Given the description of an element on the screen output the (x, y) to click on. 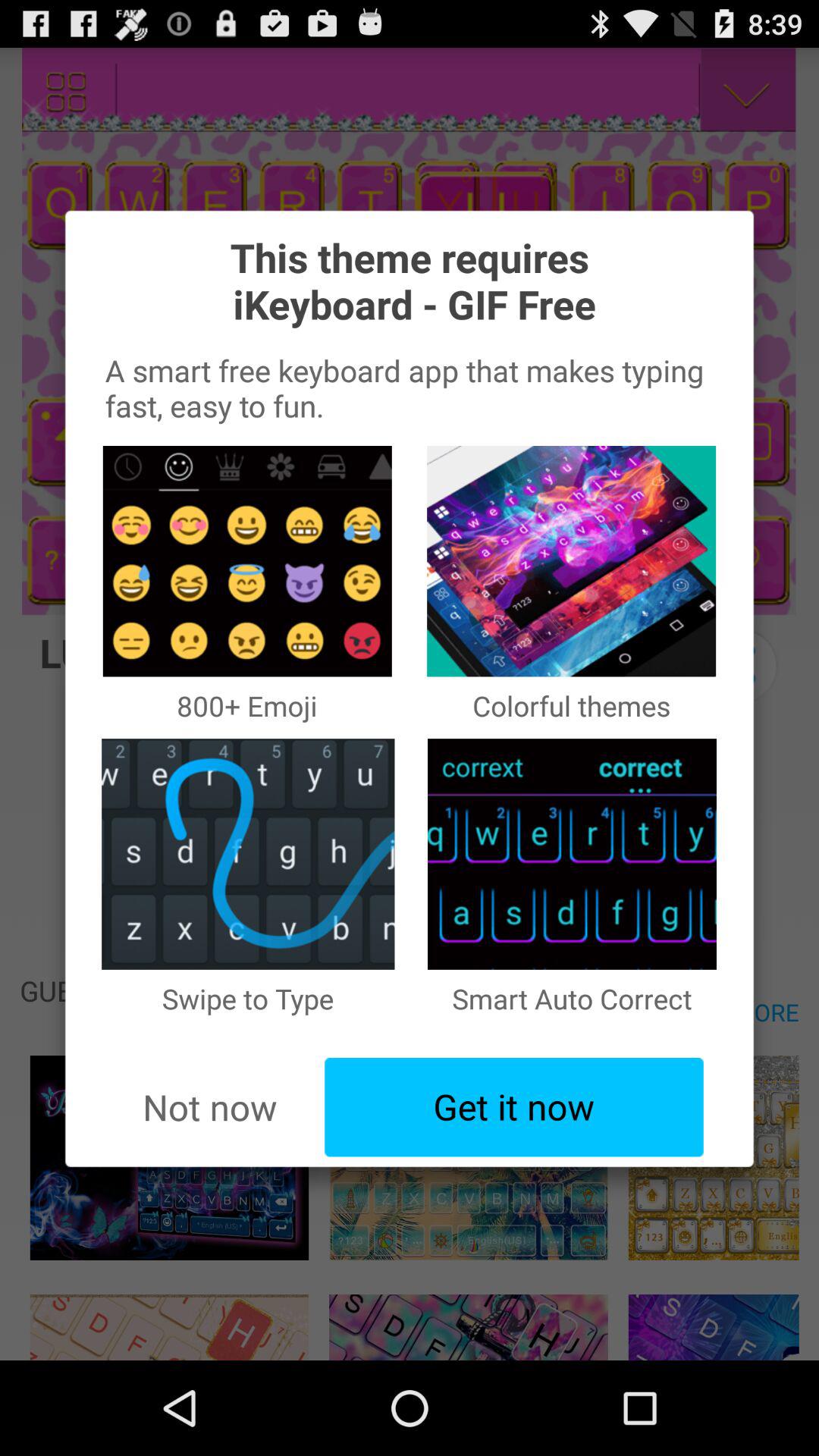
tap the not now button (209, 1106)
